Given the description of an element on the screen output the (x, y) to click on. 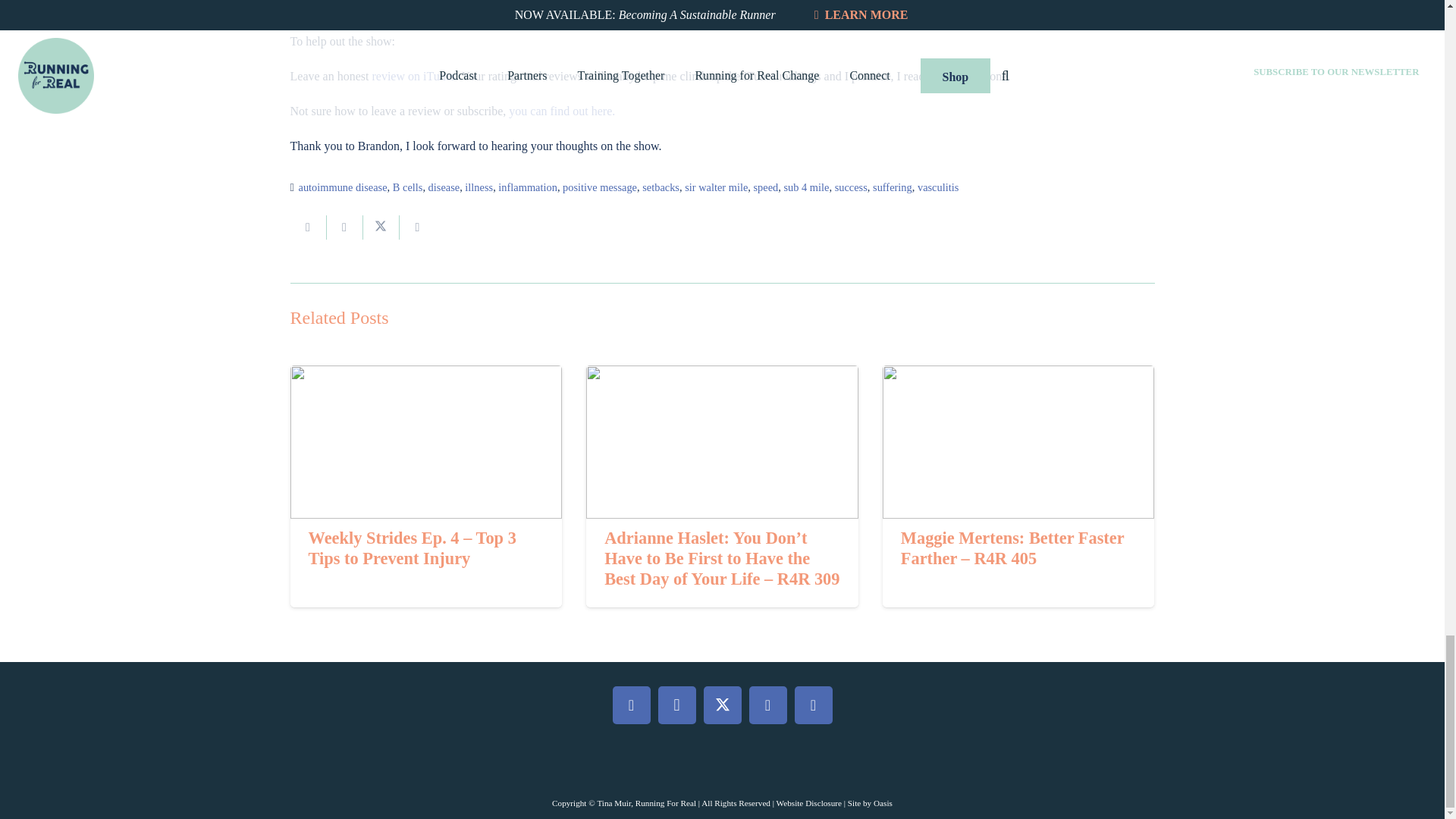
Patreon (768, 704)
Pin this (416, 227)
Instagram (676, 704)
Facebook (631, 704)
Tweet this (380, 227)
RSS (813, 704)
Email this (307, 227)
Share this (344, 227)
Twitter (722, 704)
